Given the description of an element on the screen output the (x, y) to click on. 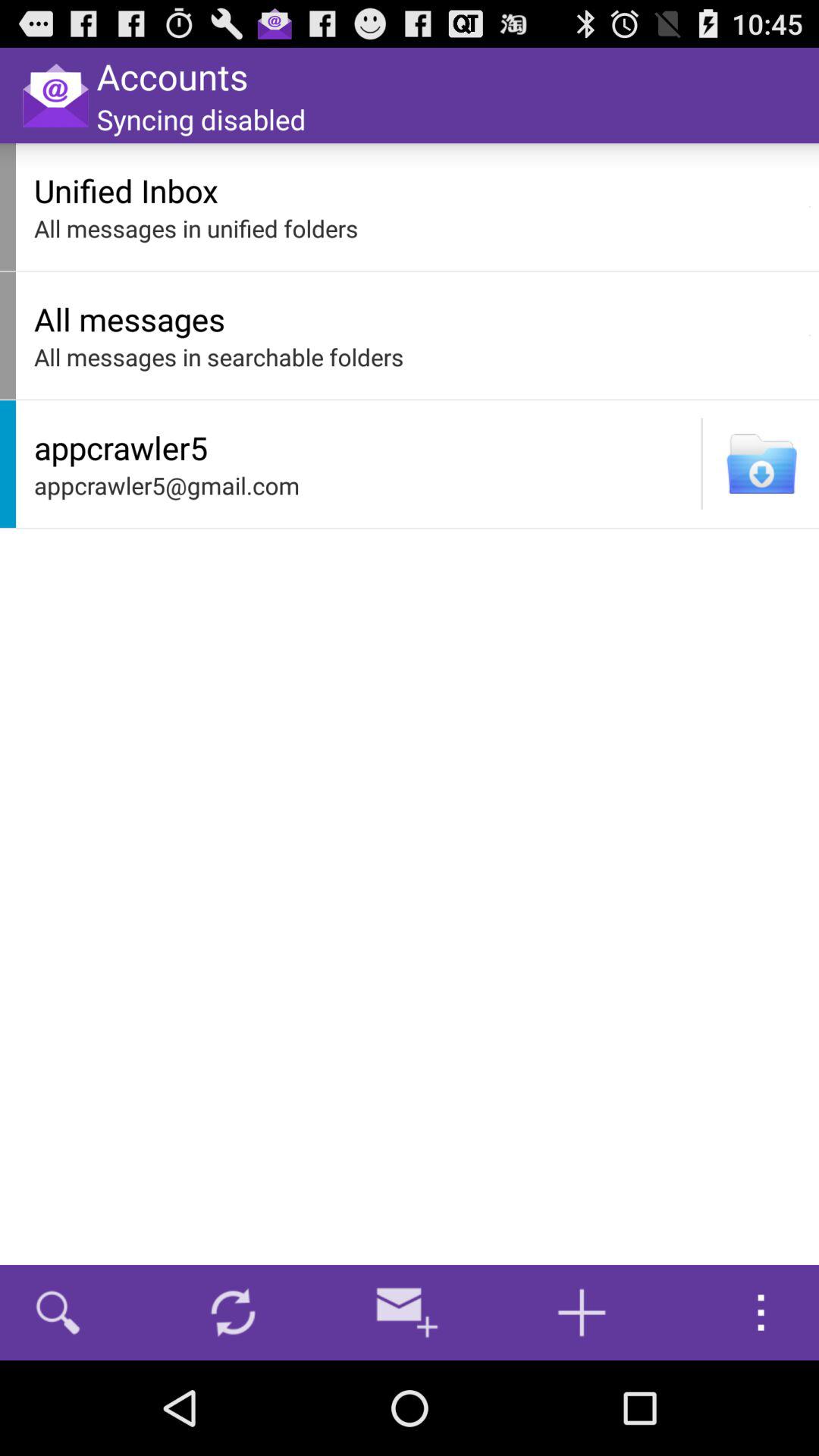
press item to the right of appcrawler5 app (701, 463)
